Given the description of an element on the screen output the (x, y) to click on. 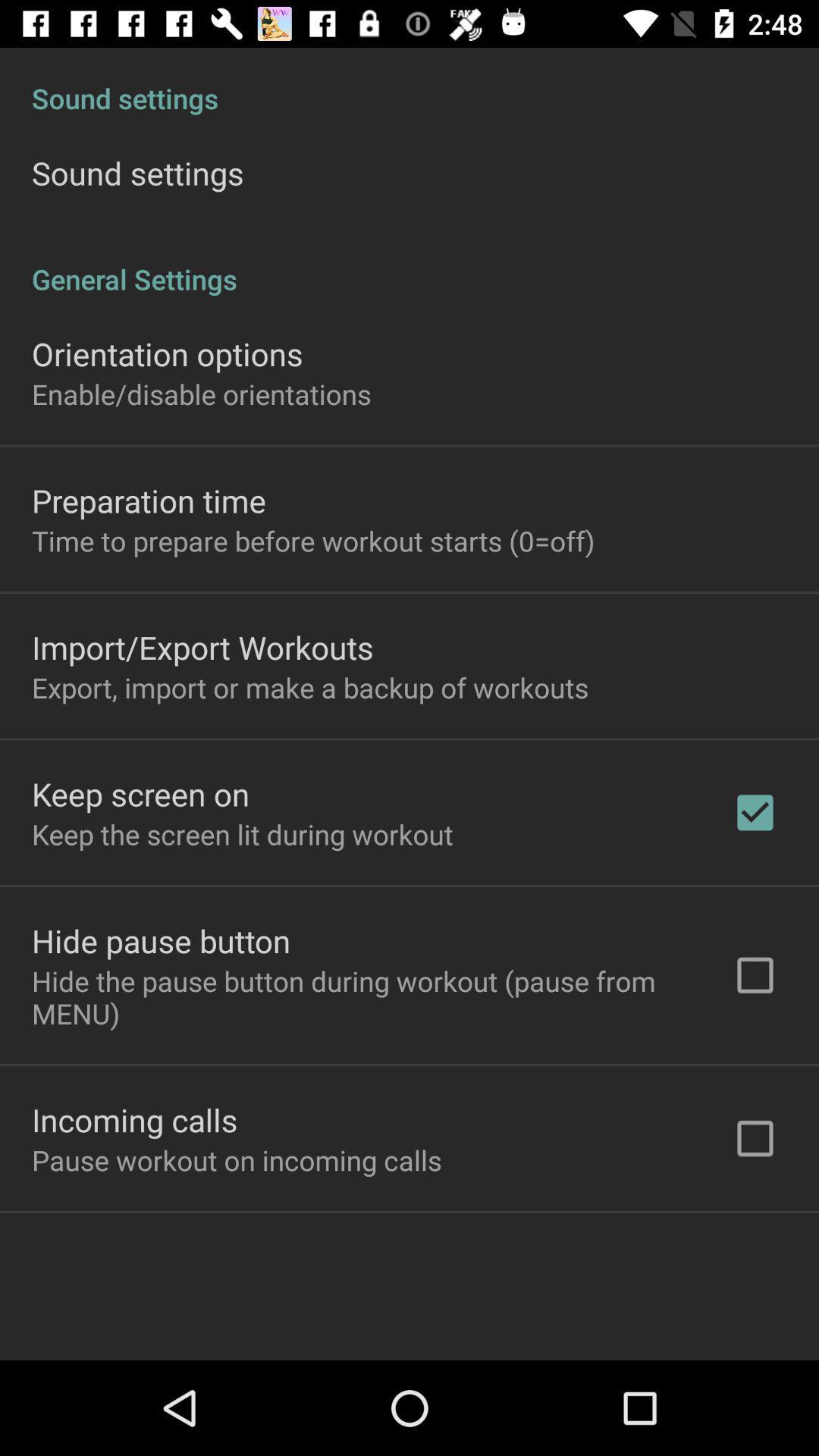
tap icon above orientation options icon (409, 263)
